Given the description of an element on the screen output the (x, y) to click on. 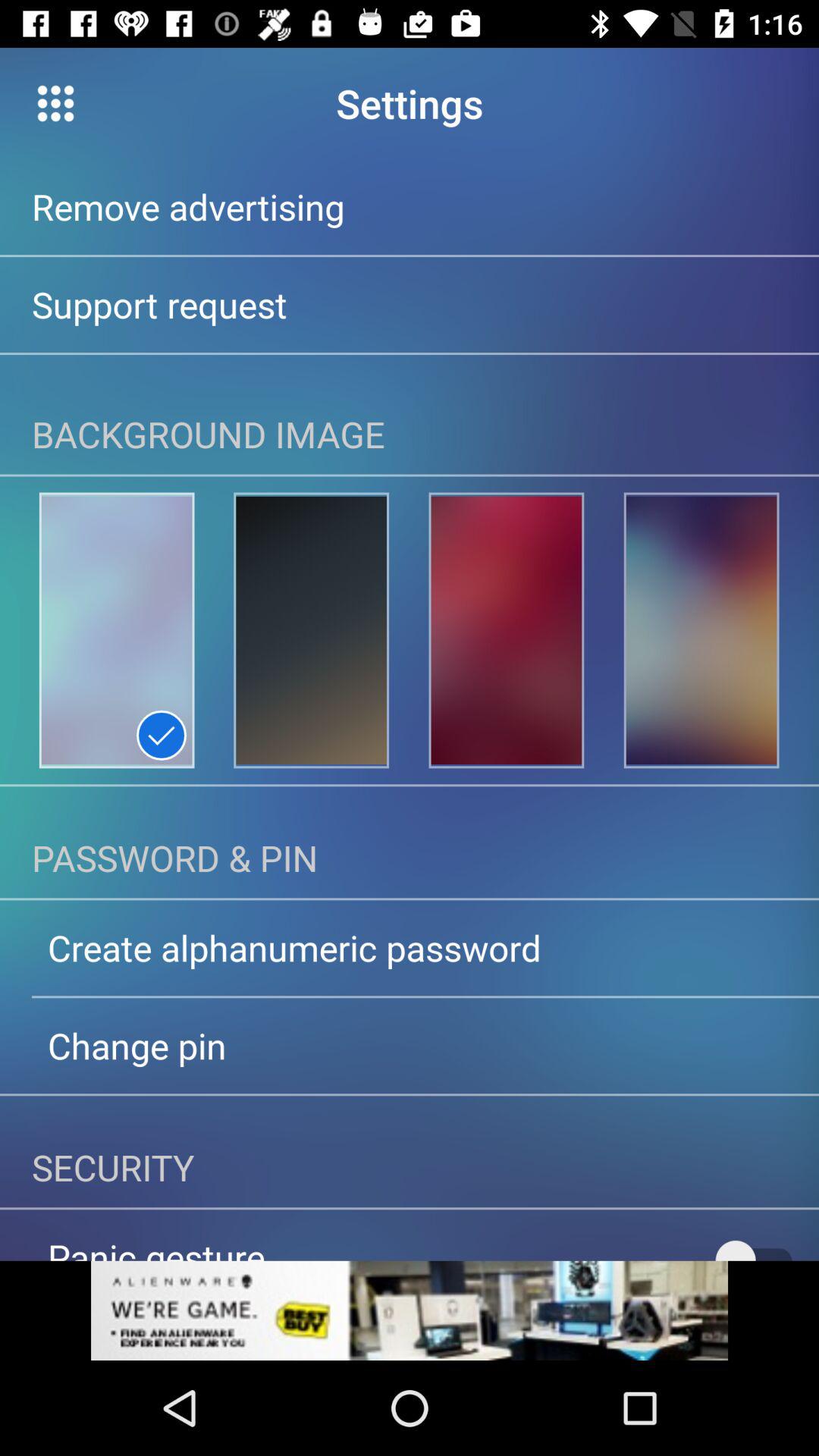
item is displayed (311, 630)
